Given the description of an element on the screen output the (x, y) to click on. 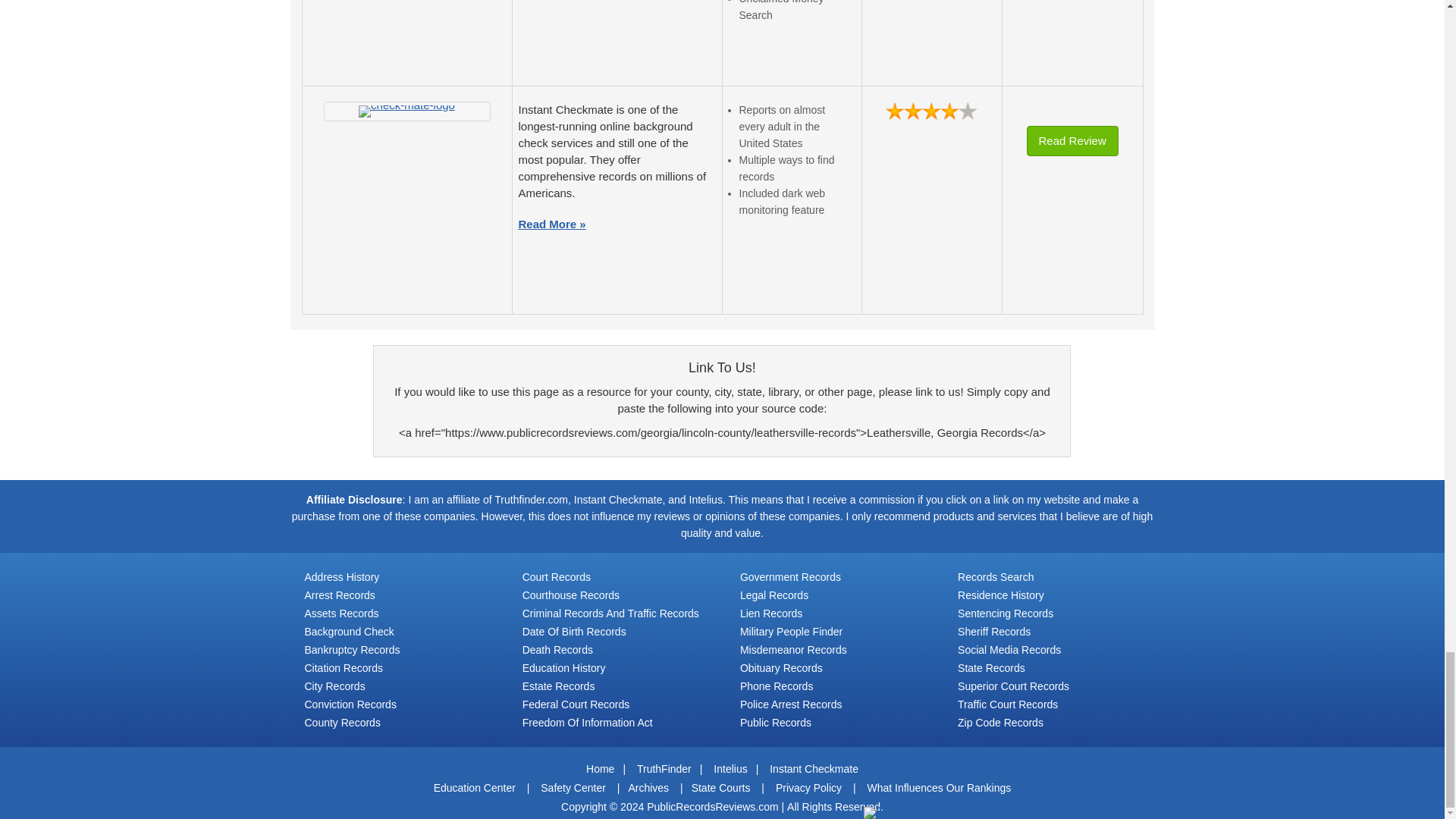
Instant Checkmate (406, 111)
